Given the description of an element on the screen output the (x, y) to click on. 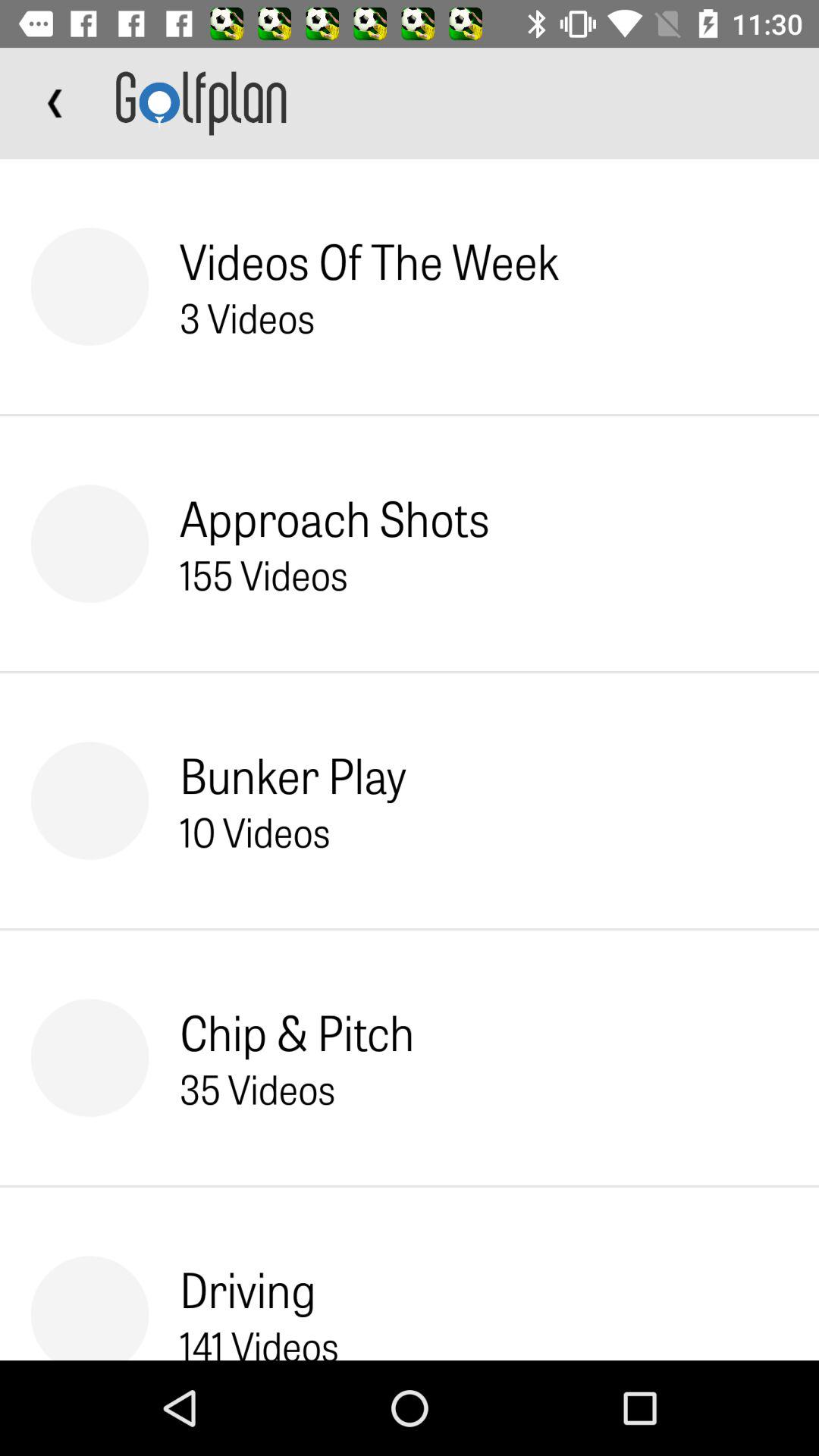
flip to chip & pitch icon (296, 1031)
